Given the description of an element on the screen output the (x, y) to click on. 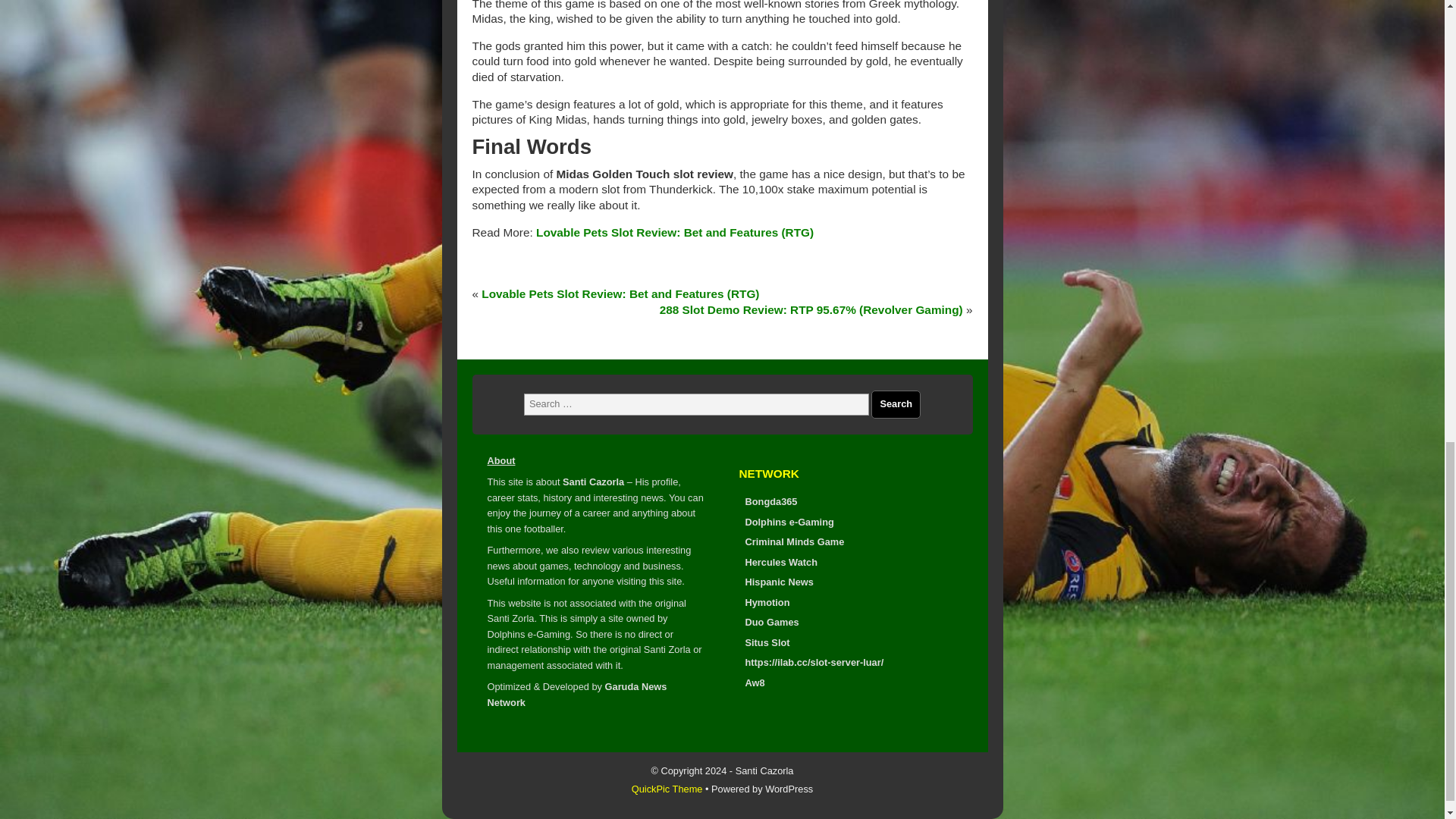
Search (895, 404)
Bongda365 (770, 501)
Hercules Watch (780, 562)
Santi Cazorla (593, 481)
QuickPic Theme (667, 788)
Duo Games (770, 622)
Search (895, 404)
Criminal Minds Game (794, 541)
Situs Slot (766, 642)
About (500, 460)
Search (895, 404)
Dolphins e-Gaming (788, 521)
Hispanic News (778, 582)
Garuda News Network (576, 693)
Hymotion (766, 602)
